Given the description of an element on the screen output the (x, y) to click on. 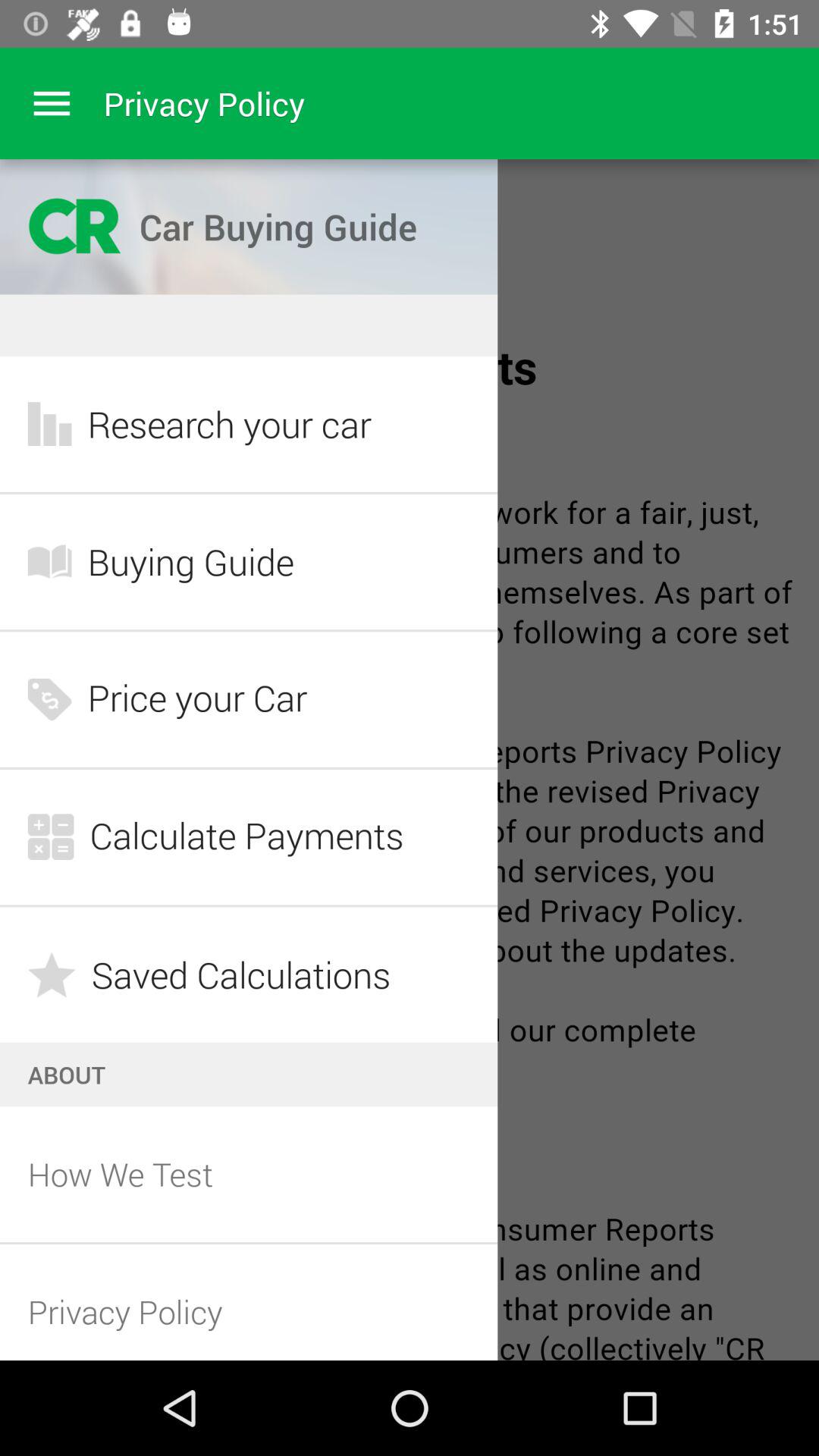
menu drop box (51, 103)
